Given the description of an element on the screen output the (x, y) to click on. 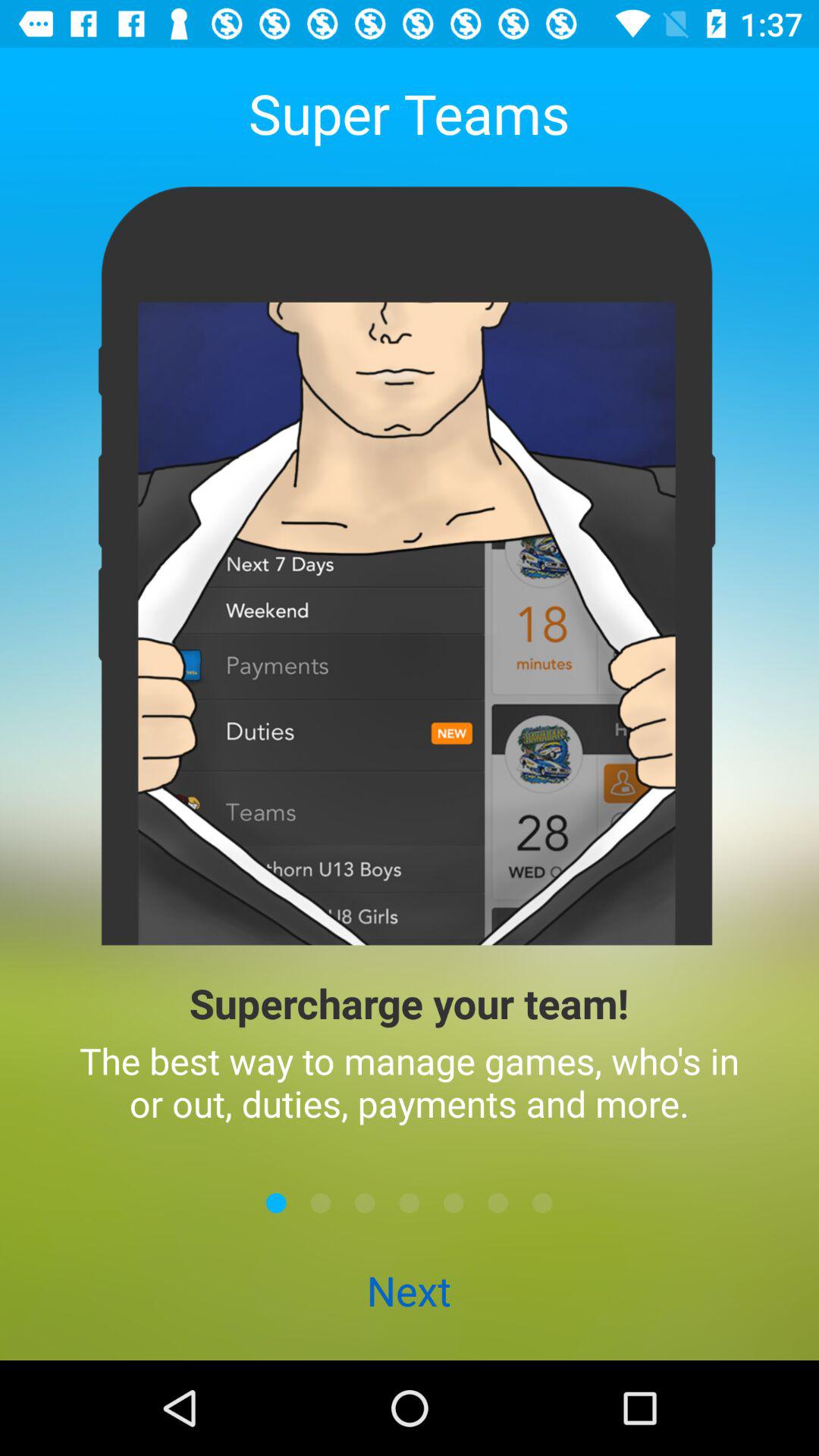
select the icon above next (498, 1203)
